Given the description of an element on the screen output the (x, y) to click on. 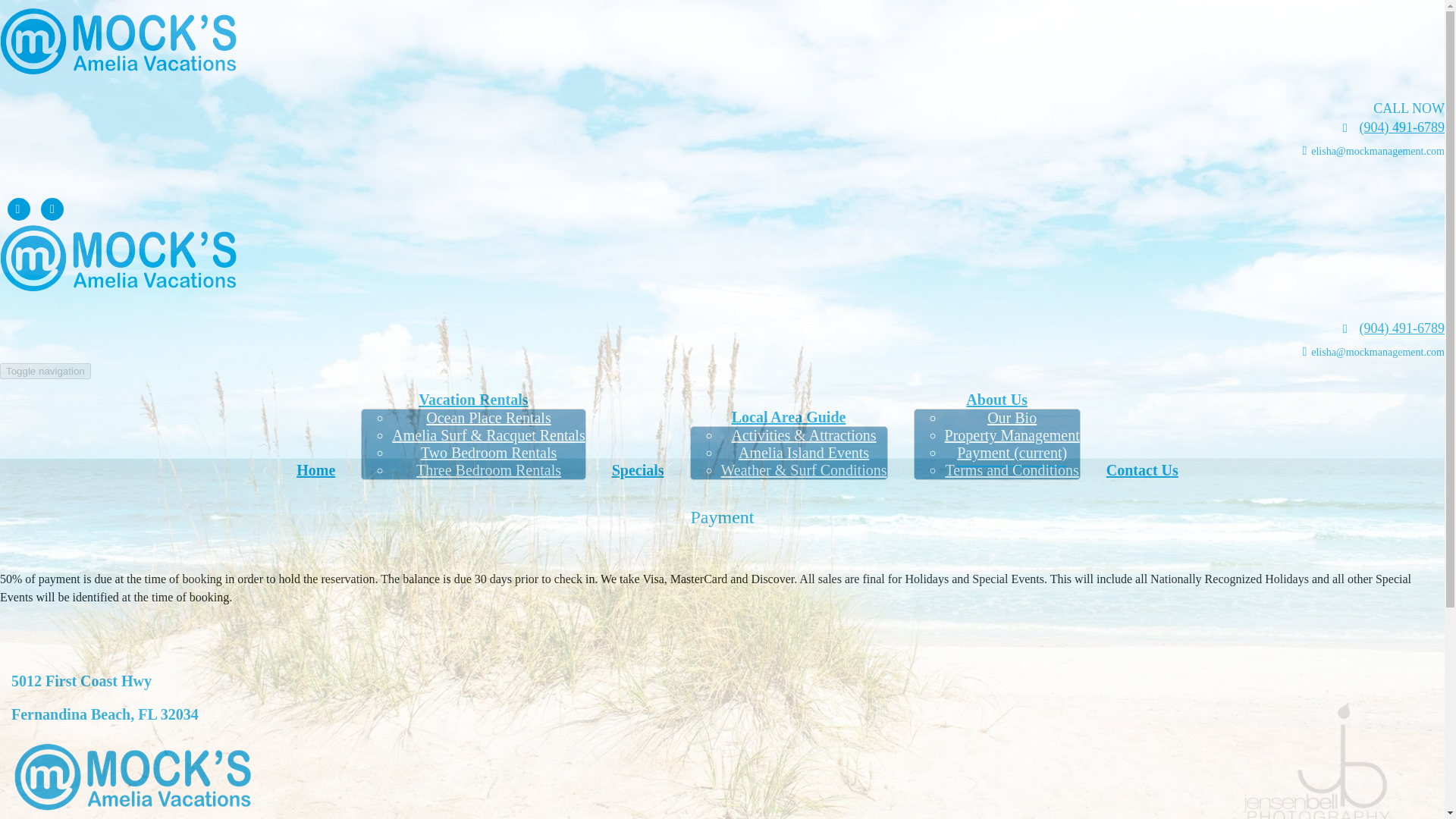
Amelia Island Events (803, 452)
Contact Us (1141, 469)
Vacation Rentals (473, 399)
About Us (996, 399)
Payment (722, 516)
Home (315, 469)
Two Bedroom Rentals (488, 452)
Specials (637, 469)
Three Bedroom Rentals (488, 469)
Our Bio (1011, 417)
Terms and Conditions (1011, 469)
Local Area Guide (788, 416)
Property Management (1012, 434)
Ocean Place Rentals (488, 417)
Toggle navigation (45, 371)
